Given the description of an element on the screen output the (x, y) to click on. 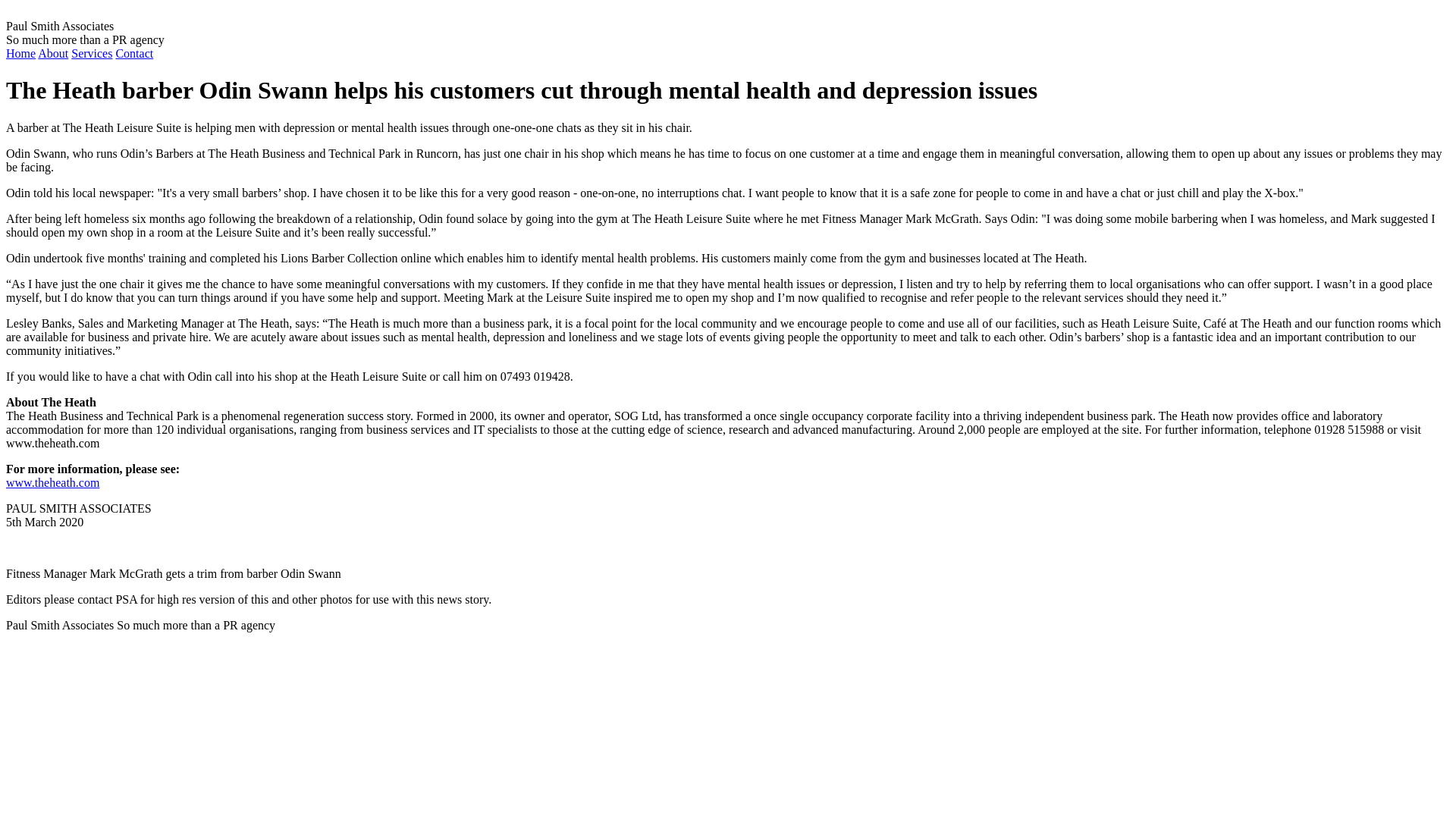
About (52, 52)
Services (91, 52)
www.theheath.com (52, 481)
Home (19, 52)
Contact (133, 52)
